Given the description of an element on the screen output the (x, y) to click on. 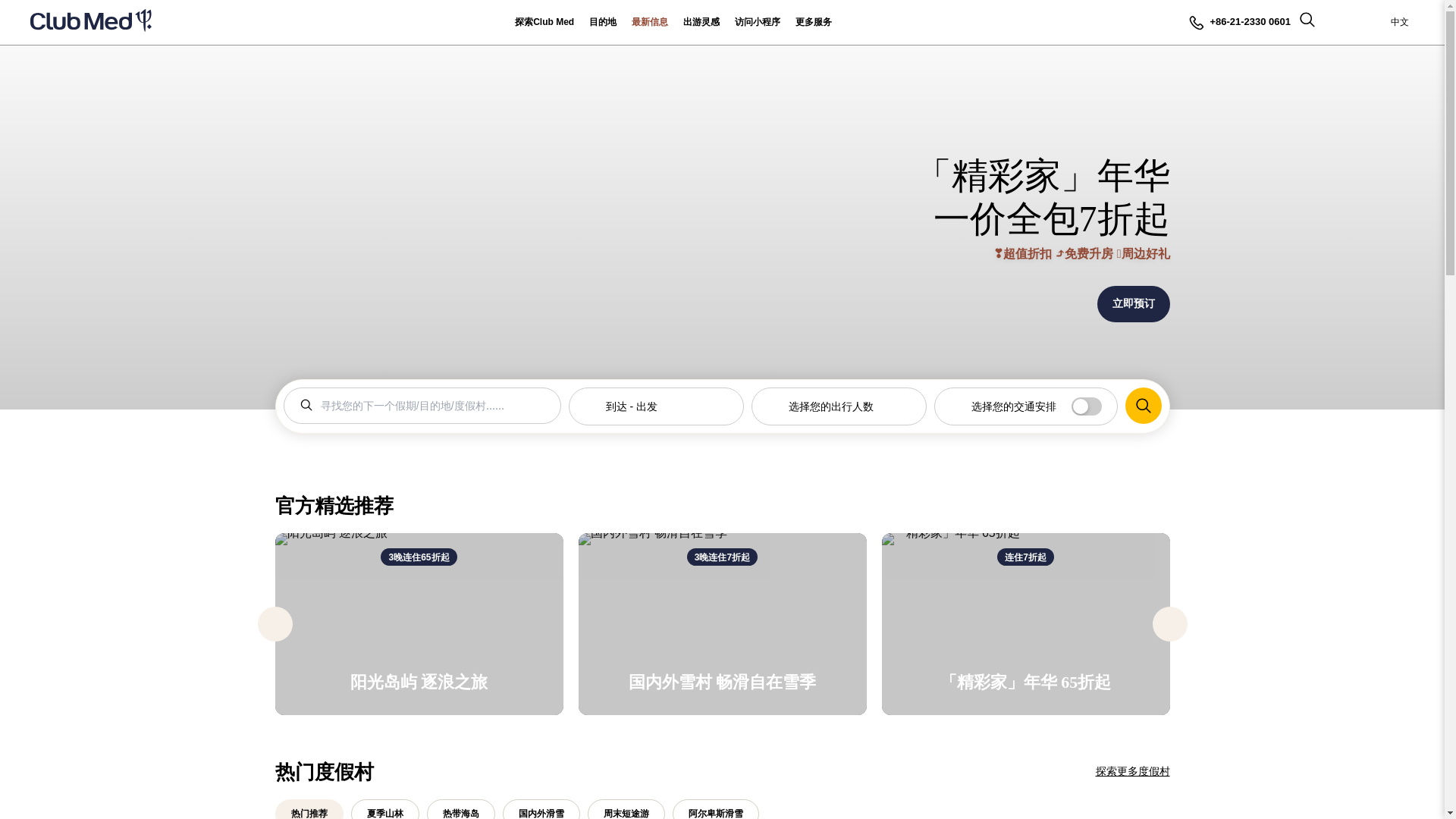
Club Med Homepage (90, 22)
languages (1406, 22)
Club Med Homepage (90, 22)
